Given the description of an element on the screen output the (x, y) to click on. 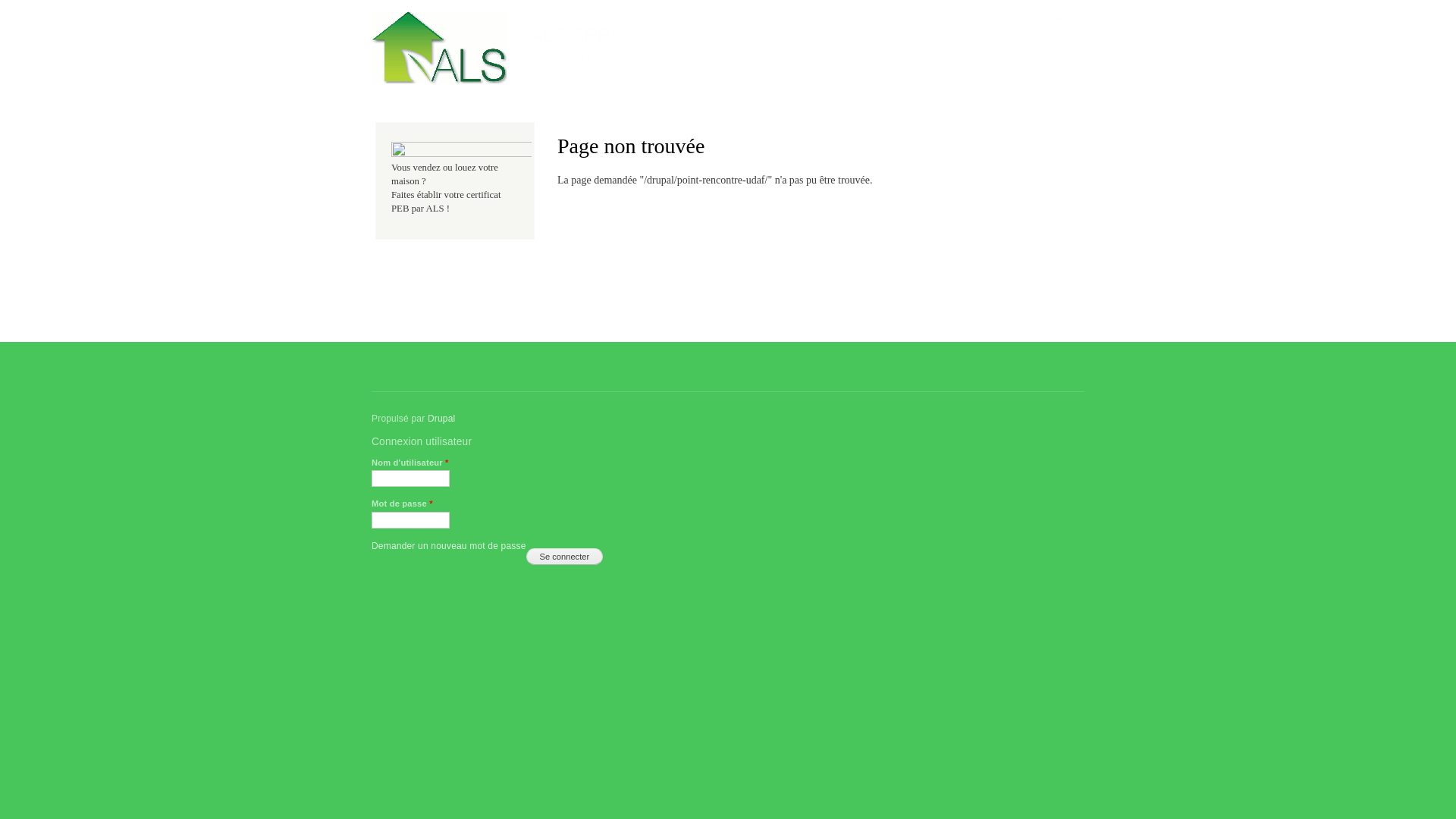
Se connecter Element type: text (564, 556)
Drupal Element type: text (441, 418)
Accueil Element type: hover (440, 49)
ALS SPRL Element type: text (575, 34)
Aller au contenu principal Element type: text (697, 1)
Demander un nouveau mot de passe Element type: text (448, 545)
